Given the description of an element on the screen output the (x, y) to click on. 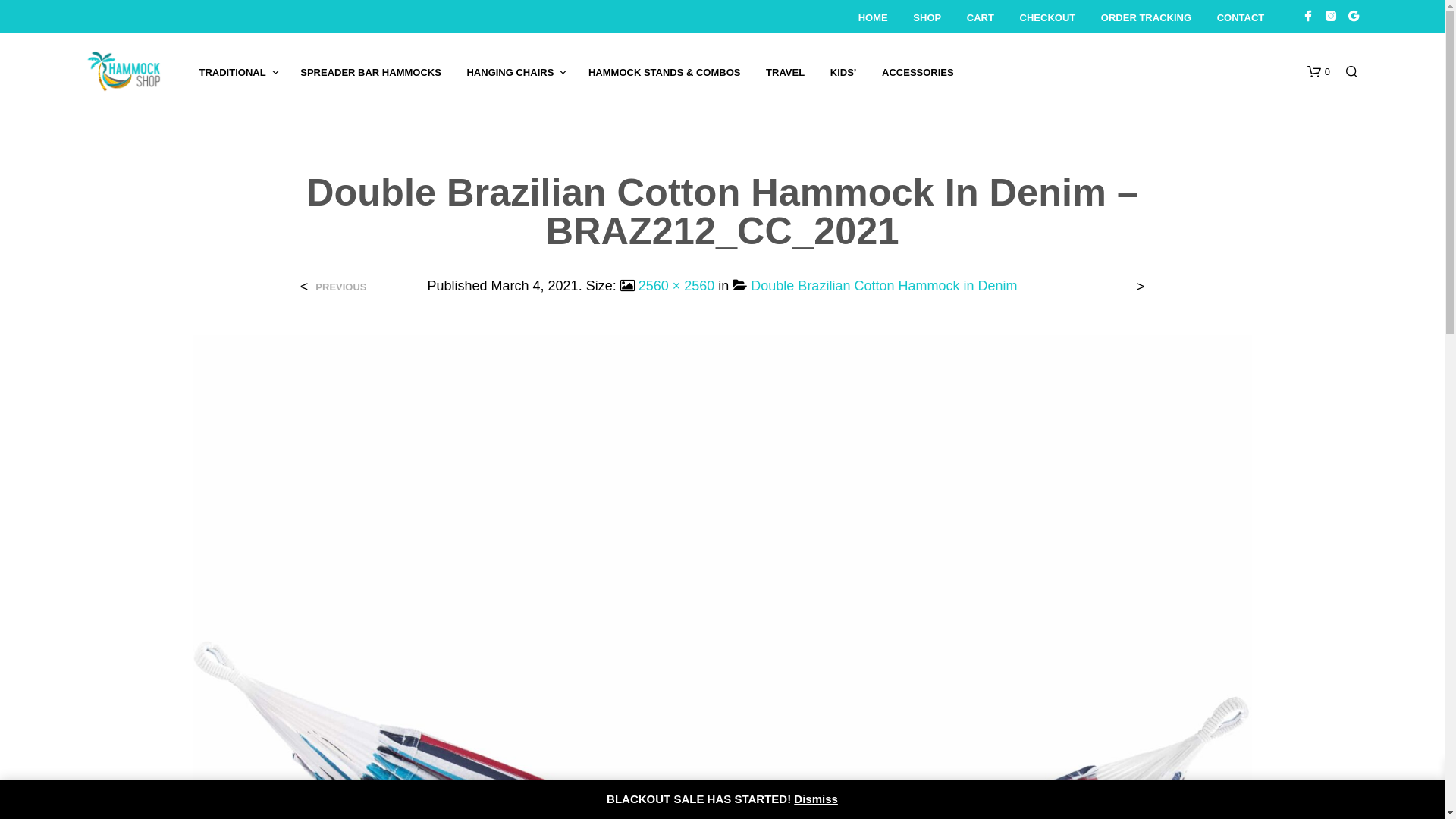
CHECKOUT Element type: text (1047, 17)
Dismiss Element type: text (815, 797)
HOME Element type: text (873, 17)
ORDER TRACKING Element type: text (1145, 17)
SHOP Element type: text (926, 17)
SPREADER BAR HAMMOCKS Element type: text (370, 72)
TRAVEL Element type: text (784, 72)
ACCESSORIES Element type: text (917, 72)
CART Element type: text (980, 17)
PREVIOUS Element type: text (338, 286)
HANGING CHAIRS Element type: text (509, 72)
CONTACT Element type: text (1240, 17)
0 Element type: text (1318, 71)
TRADITIONAL Element type: text (232, 72)
HAMMOCK STANDS & COMBOS Element type: text (664, 72)
Double Brazilian Cotton Hammock in Denim Element type: text (883, 285)
